Given the description of an element on the screen output the (x, y) to click on. 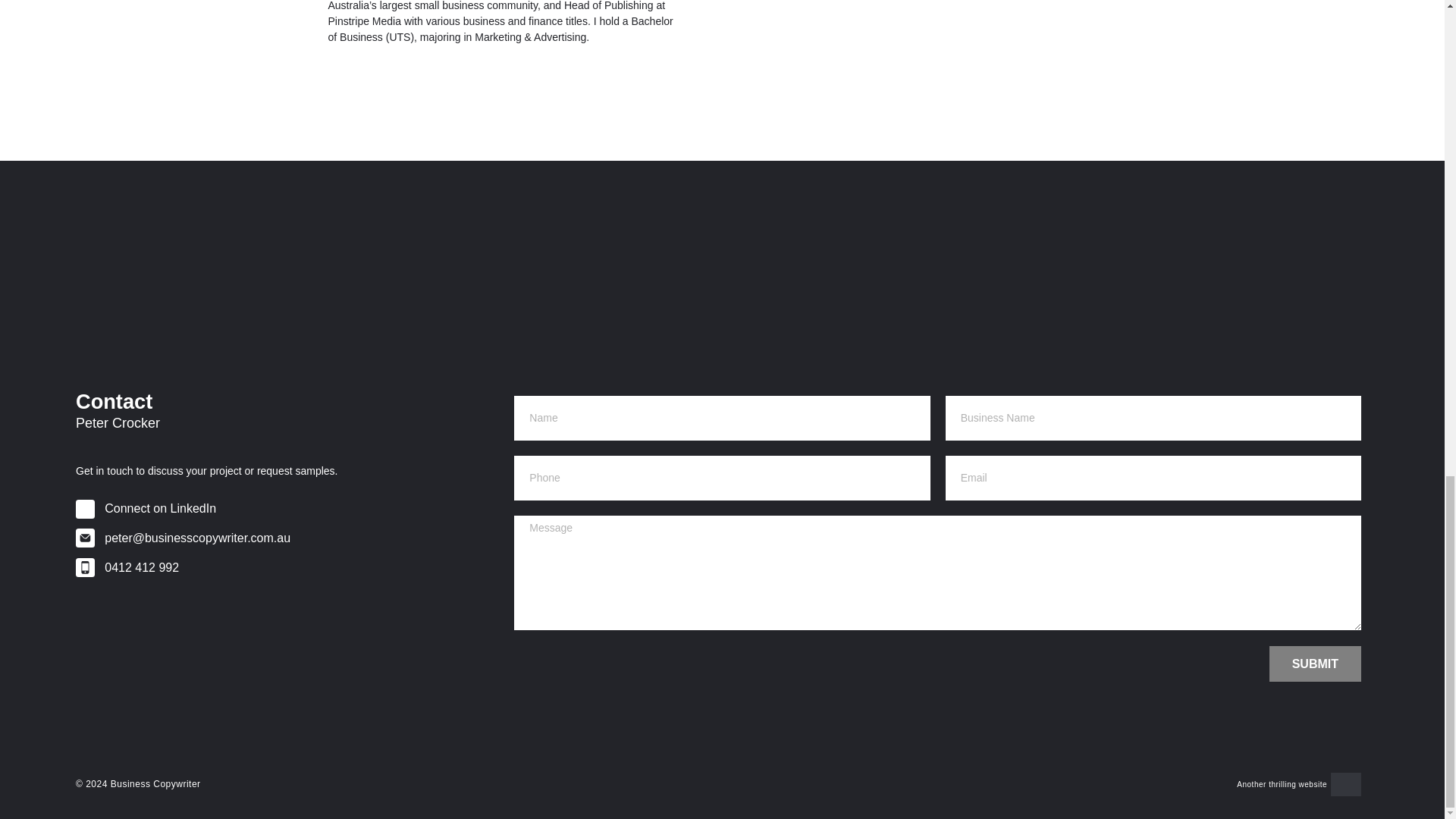
Another thrilling website (1281, 784)
Connect on LinkedIn (290, 508)
SUBMIT (1315, 663)
0412 412 992 (290, 567)
